Given the description of an element on the screen output the (x, y) to click on. 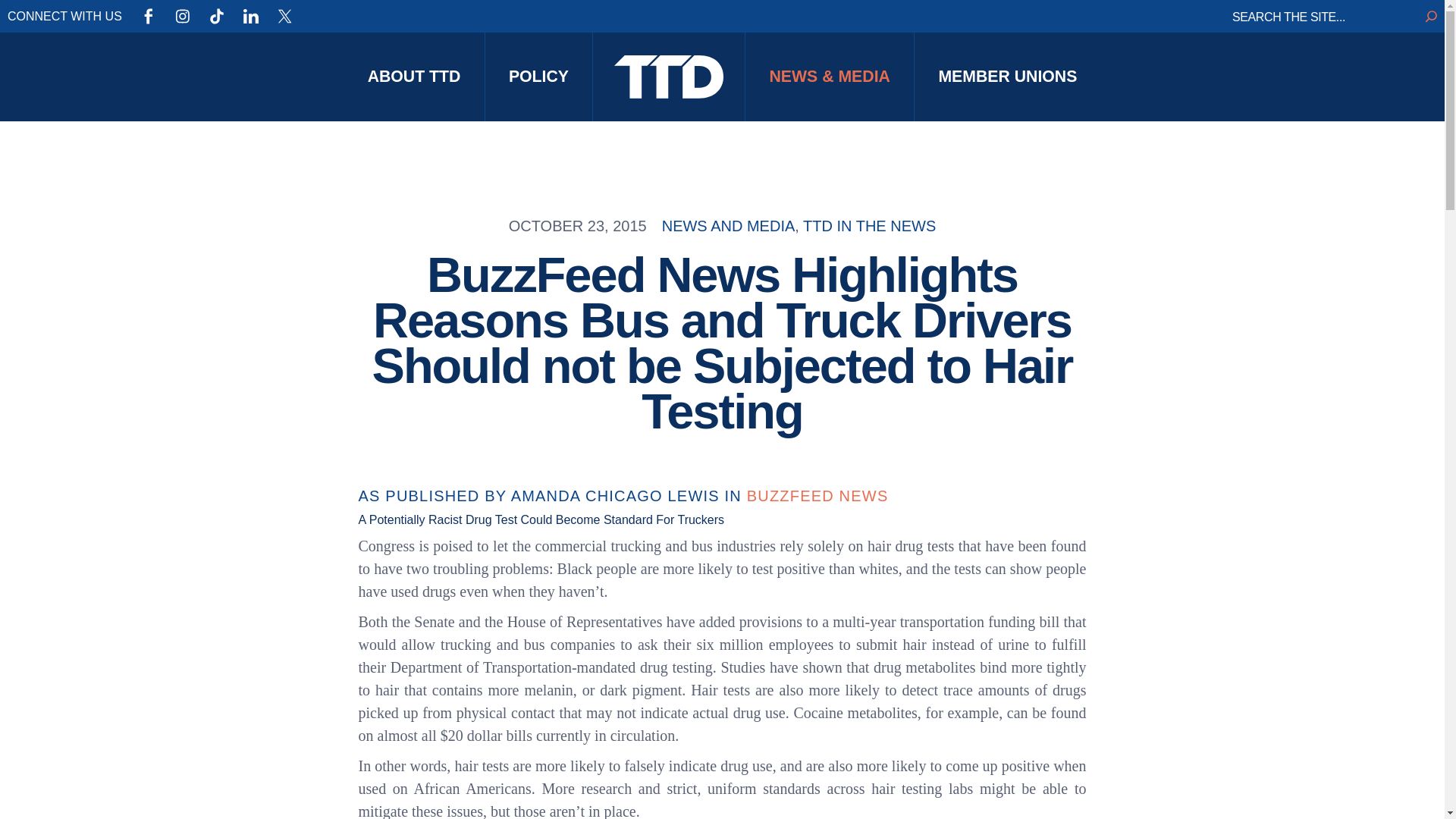
TTD IN THE NEWS (869, 225)
ABOUT TTD (413, 76)
NEWS AND MEDIA (728, 225)
MEMBER UNIONS (1007, 76)
POLICY (538, 76)
BUZZFEED NEWS (817, 495)
